Given the description of an element on the screen output the (x, y) to click on. 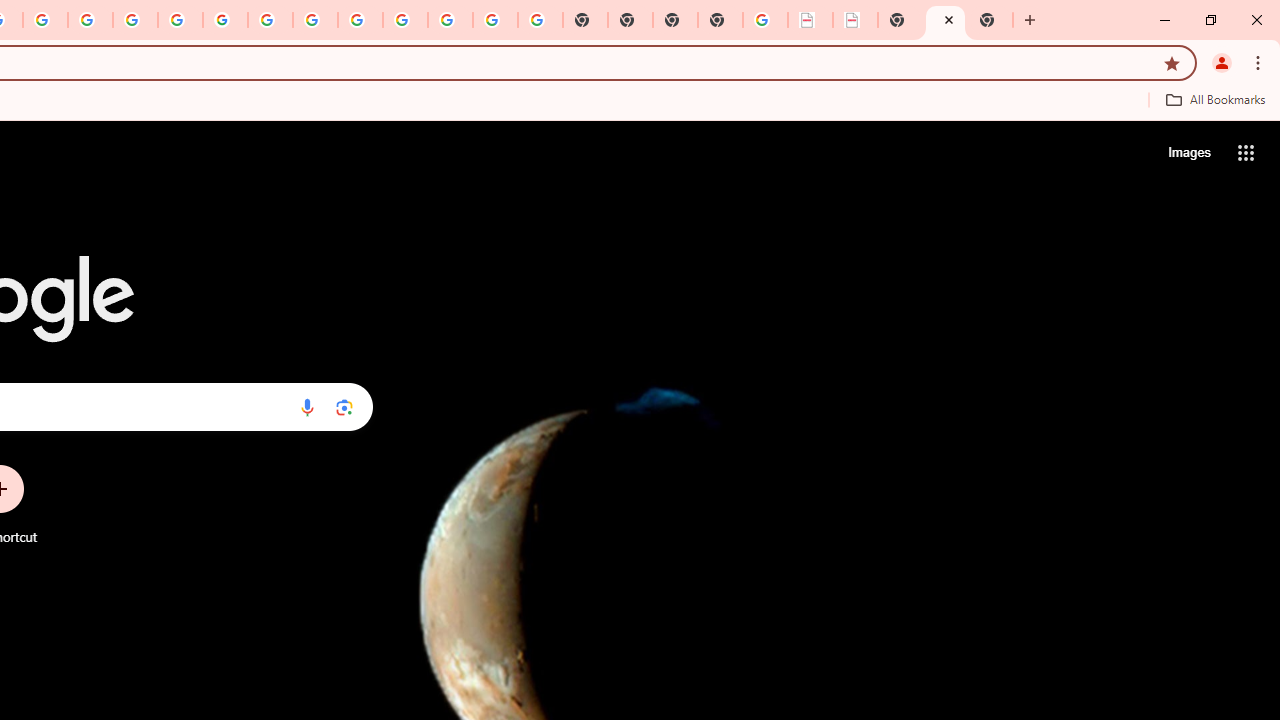
Search by image (344, 407)
Privacy Help Center - Policies Help (89, 20)
Search for Images  (1188, 152)
YouTube (270, 20)
